Given the description of an element on the screen output the (x, y) to click on. 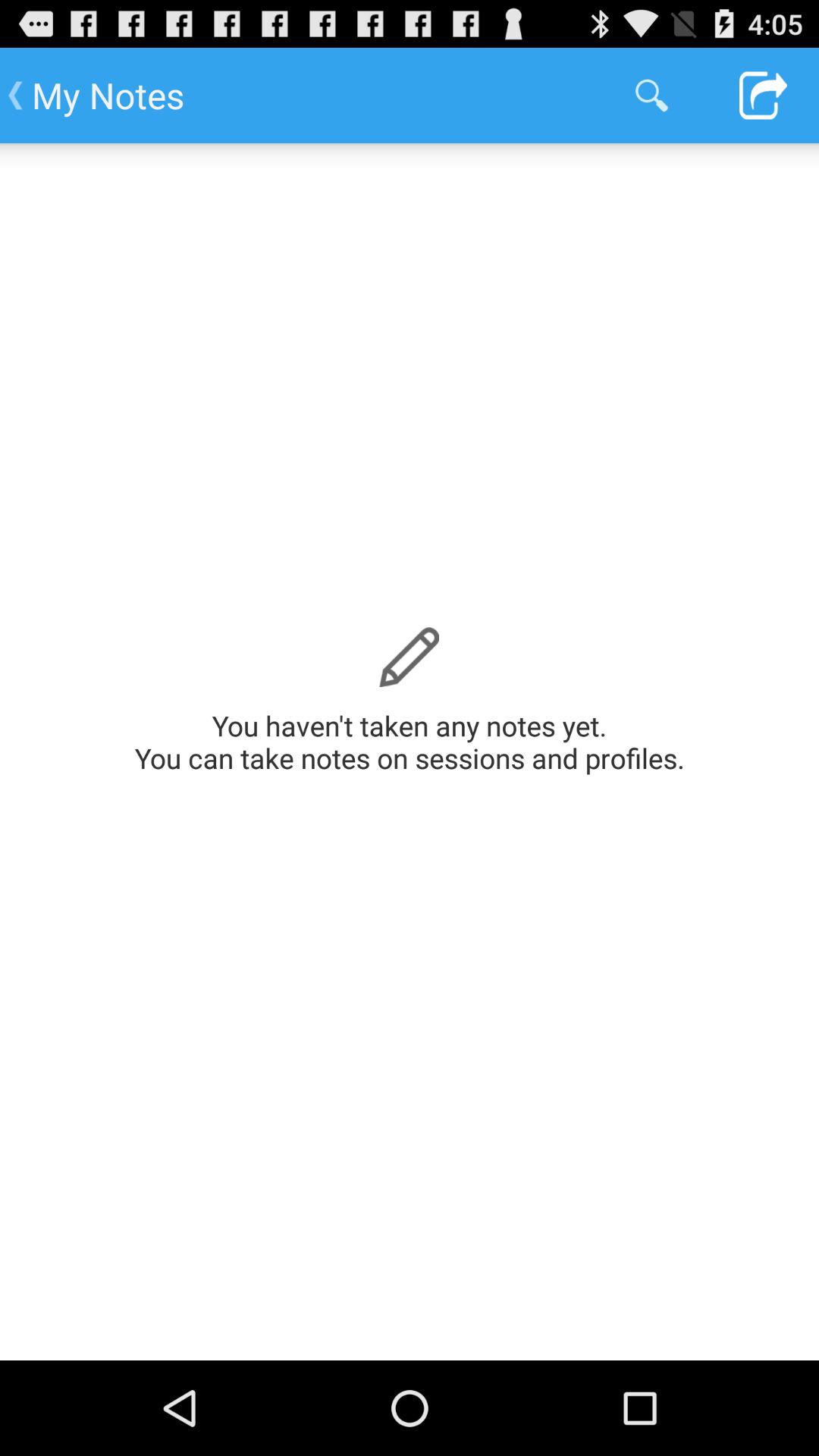
turn on app to the right of my notes app (651, 95)
